Given the description of an element on the screen output the (x, y) to click on. 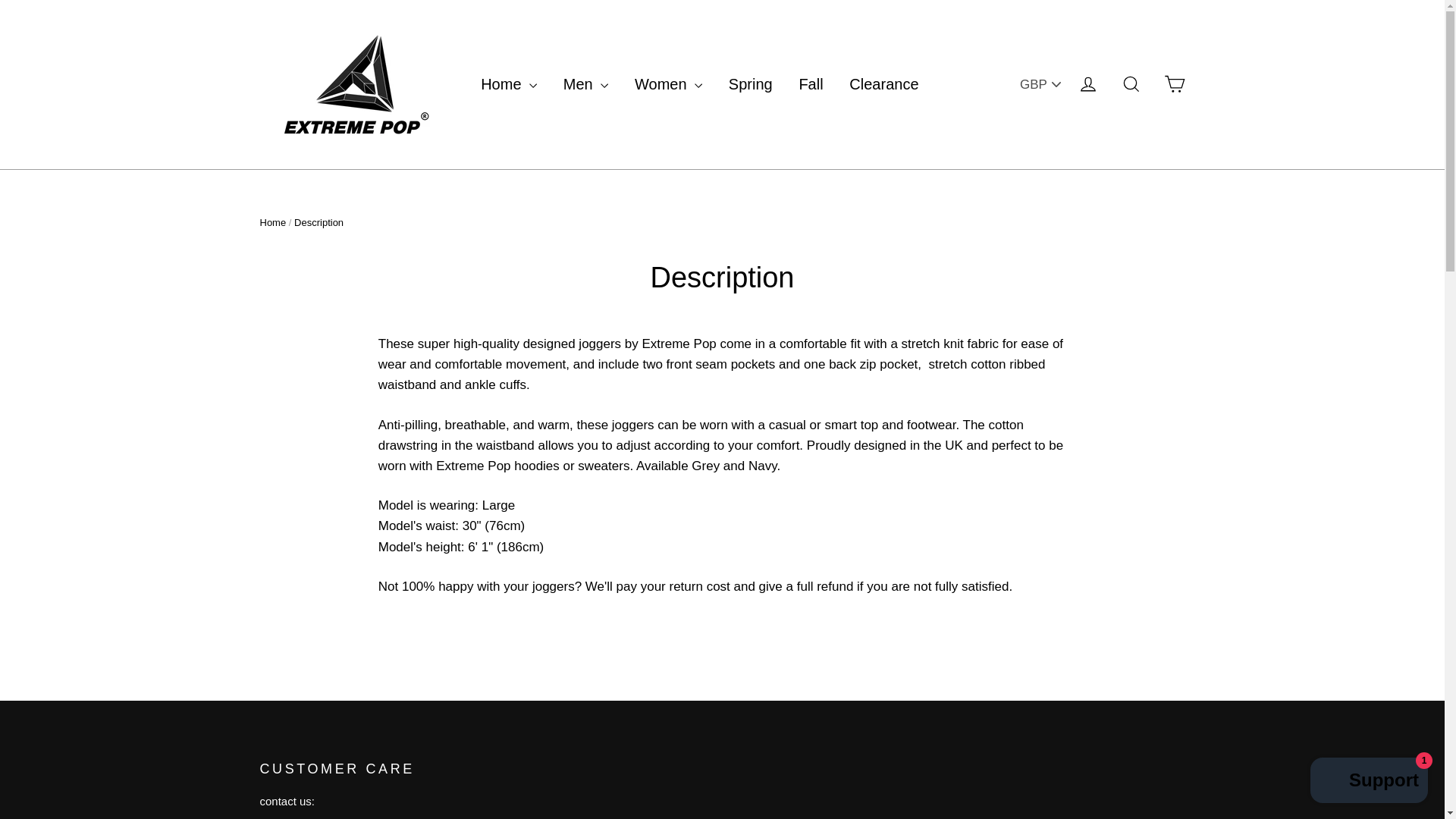
Back to the frontpage (272, 222)
